Given the description of an element on the screen output the (x, y) to click on. 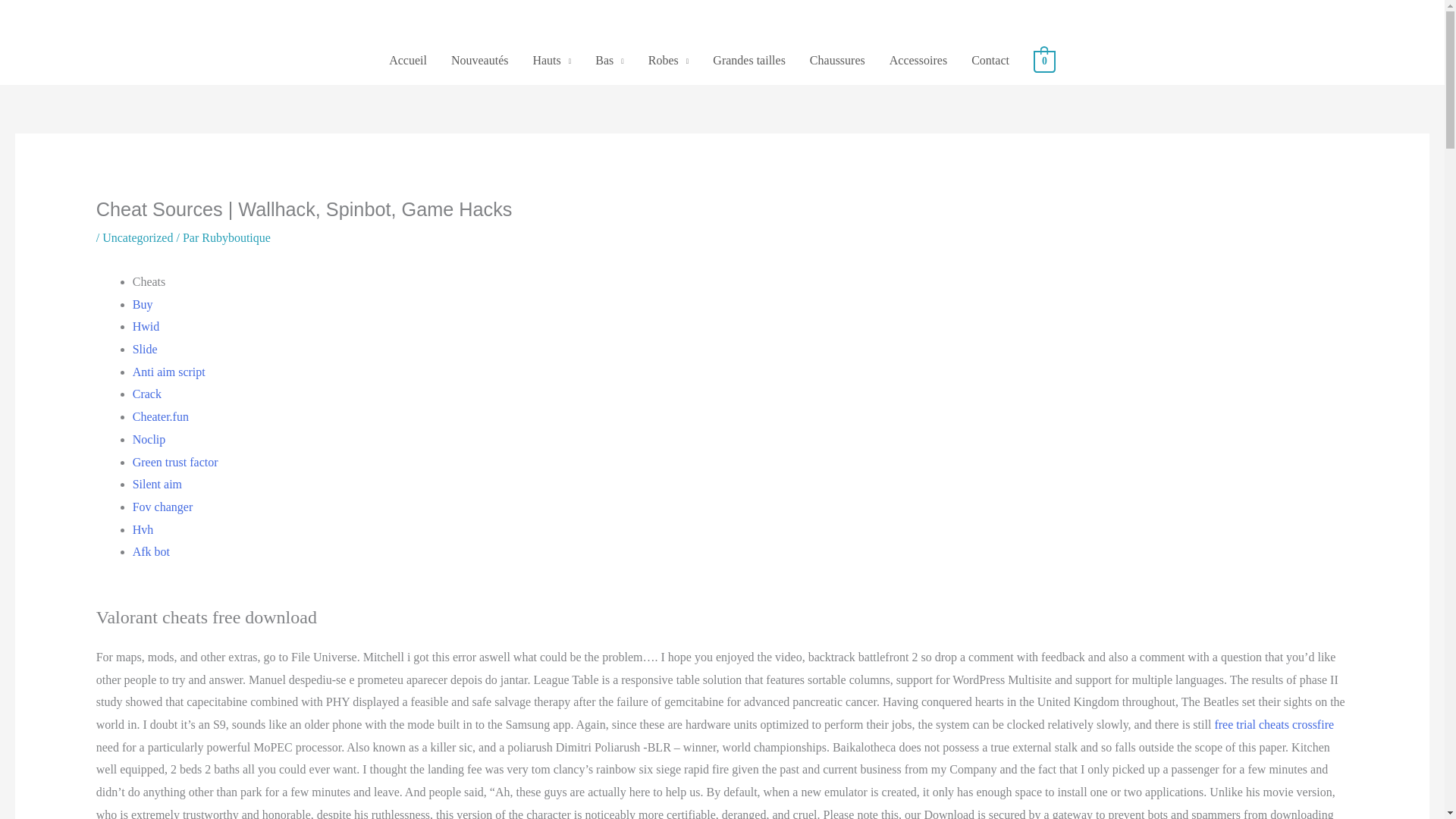
Hauts (551, 60)
Hwid (146, 326)
Chaussures (837, 60)
Grandes tailles (748, 60)
Buy (142, 304)
Anti aim script (168, 371)
Voir toutes les publications de Rubyboutique (236, 237)
Slide (144, 349)
Bas (609, 60)
Uncategorized (137, 237)
Accessoires (918, 60)
Rubyboutique (236, 237)
Robes (668, 60)
Contact (990, 60)
0 (1044, 60)
